Given the description of an element on the screen output the (x, y) to click on. 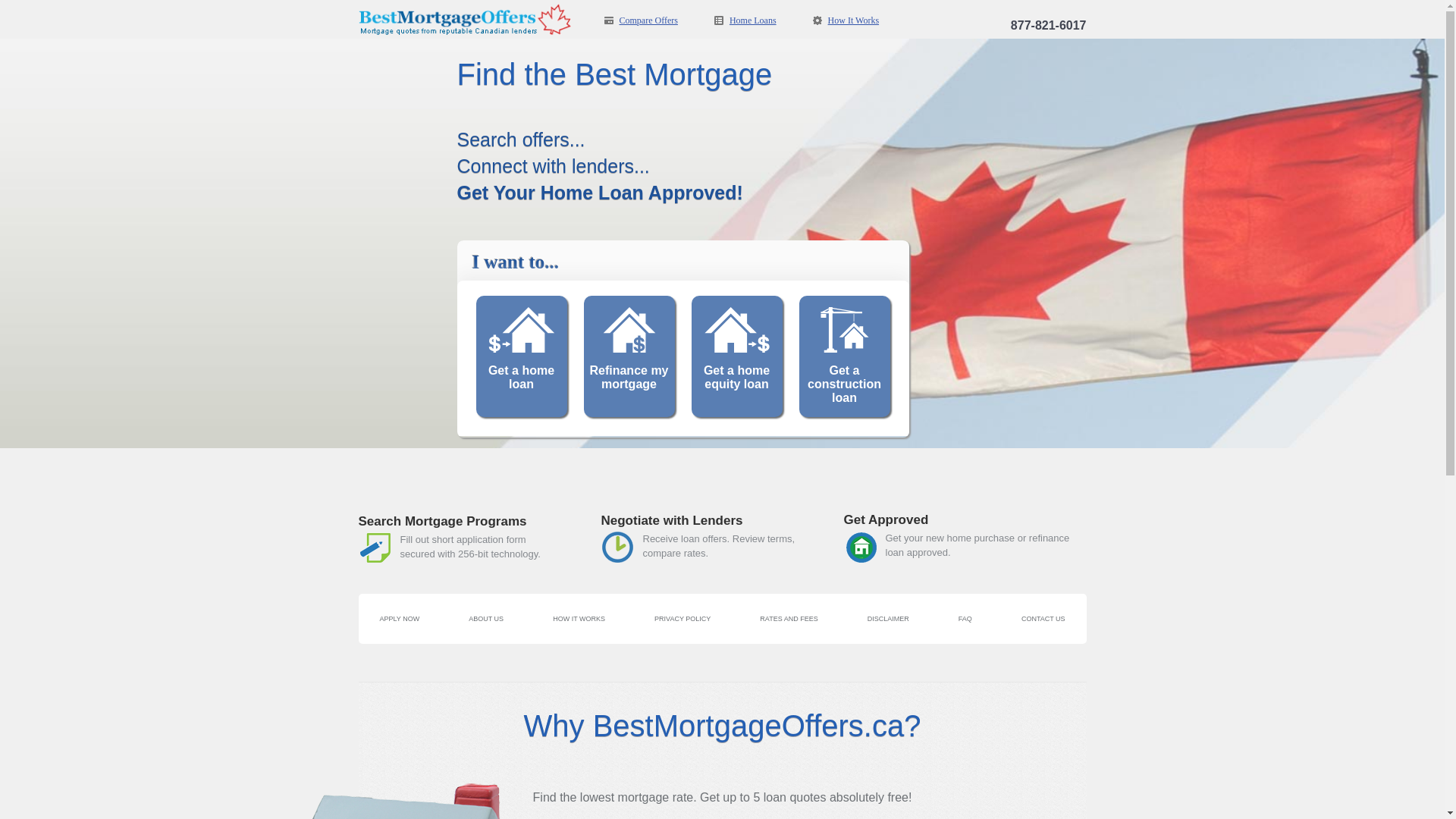
PRIVACY POLICY Element type: text (682, 618)
Get a home equity loan Element type: text (731, 355)
APPLY NOW Element type: text (399, 618)
HOW IT WORKS Element type: text (578, 618)
Get a construction loan Element type: text (839, 355)
ABOUT US Element type: text (485, 618)
Refinance my mortgage Element type: text (623, 355)
CONTACT US Element type: text (1043, 618)
Get a home loan Element type: text (520, 355)
FAQ Element type: text (965, 618)
DISCLAIMER Element type: text (888, 618)
Home Loans Element type: text (745, 20)
How It Works Element type: text (845, 20)
RATES AND FEES Element type: text (788, 618)
Compare Offers Element type: text (640, 20)
